Given the description of an element on the screen output the (x, y) to click on. 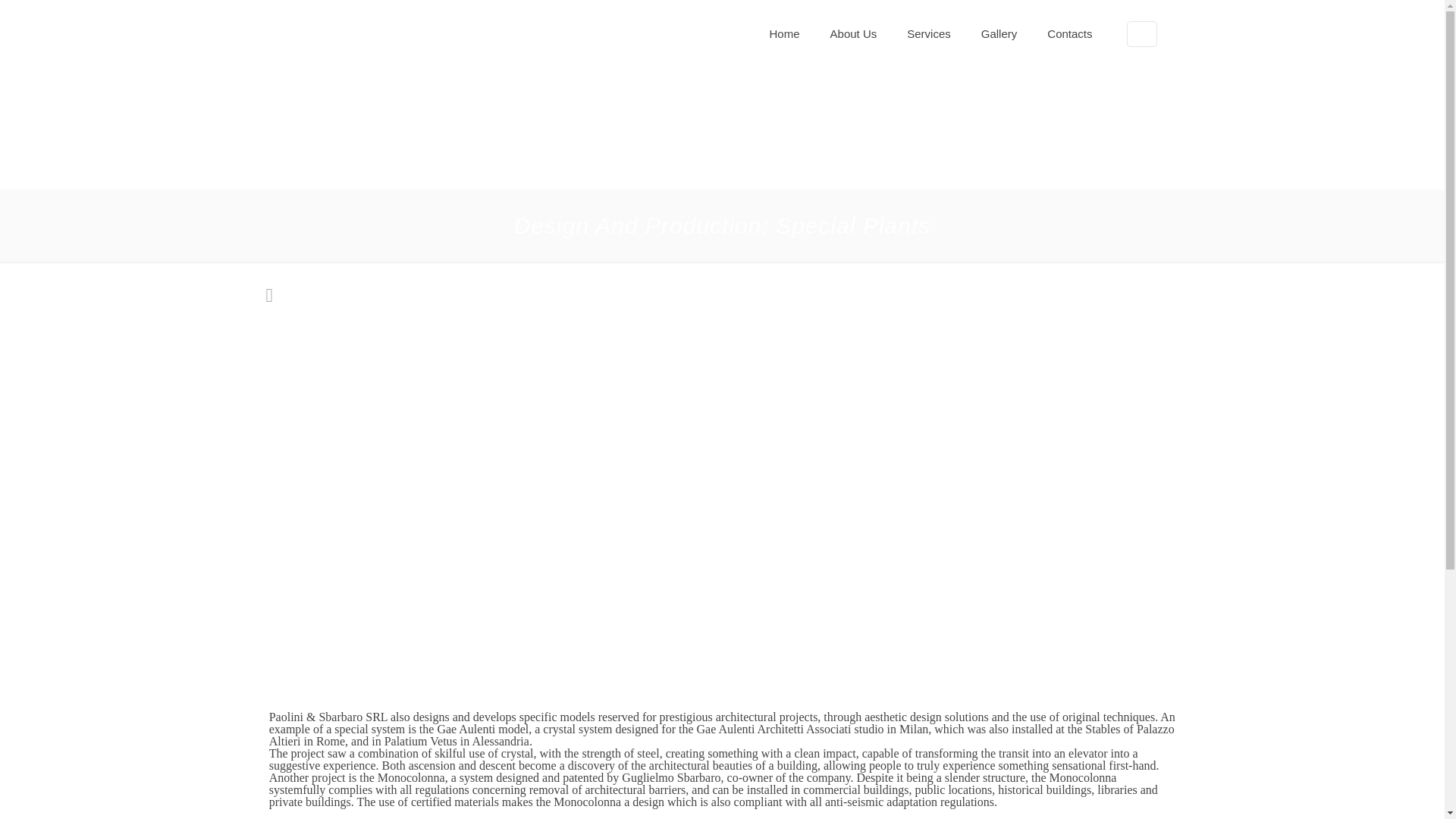
About Us (853, 33)
Contacts (1069, 33)
Home (784, 33)
Gallery (999, 33)
Services (928, 33)
